Given the description of an element on the screen output the (x, y) to click on. 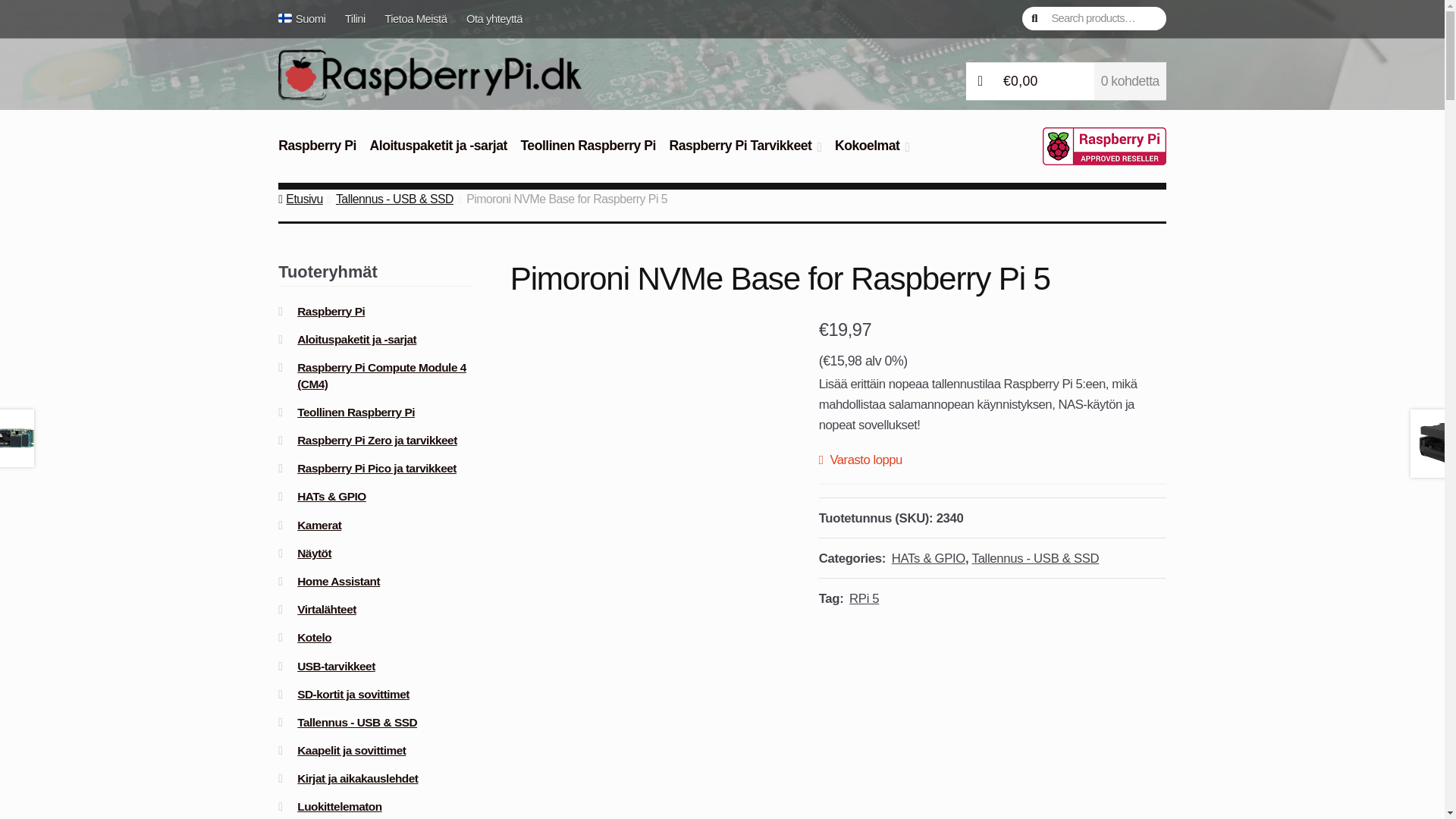
Suomi (306, 18)
Tilini (354, 18)
Teollinen Raspberry Pi (587, 154)
Raspberry Pi (317, 154)
Suomi (306, 18)
Raspberry Pi Tarvikkeet (745, 154)
Kokoelmat (871, 154)
Aloituspaketit ja -sarjat (437, 154)
View your shopping cart (1066, 81)
